Given the description of an element on the screen output the (x, y) to click on. 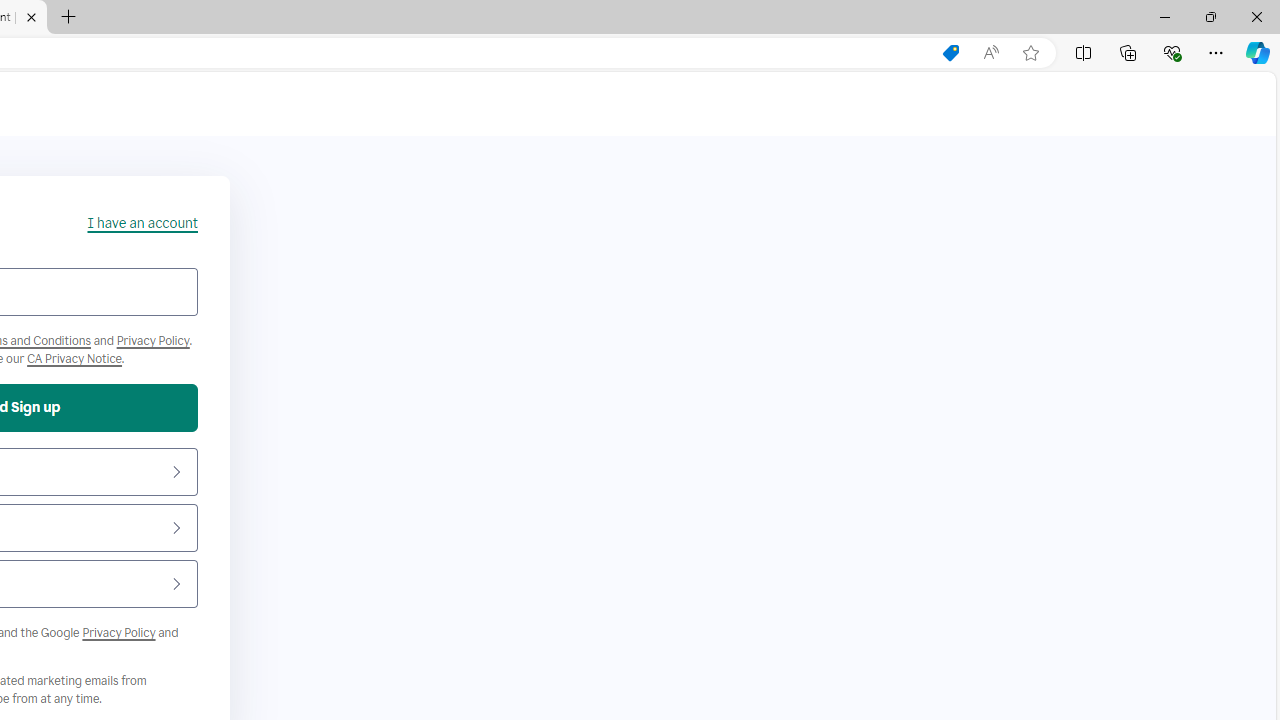
Google Privacy Policy (118, 632)
I have an account (142, 223)
